Given the description of an element on the screen output the (x, y) to click on. 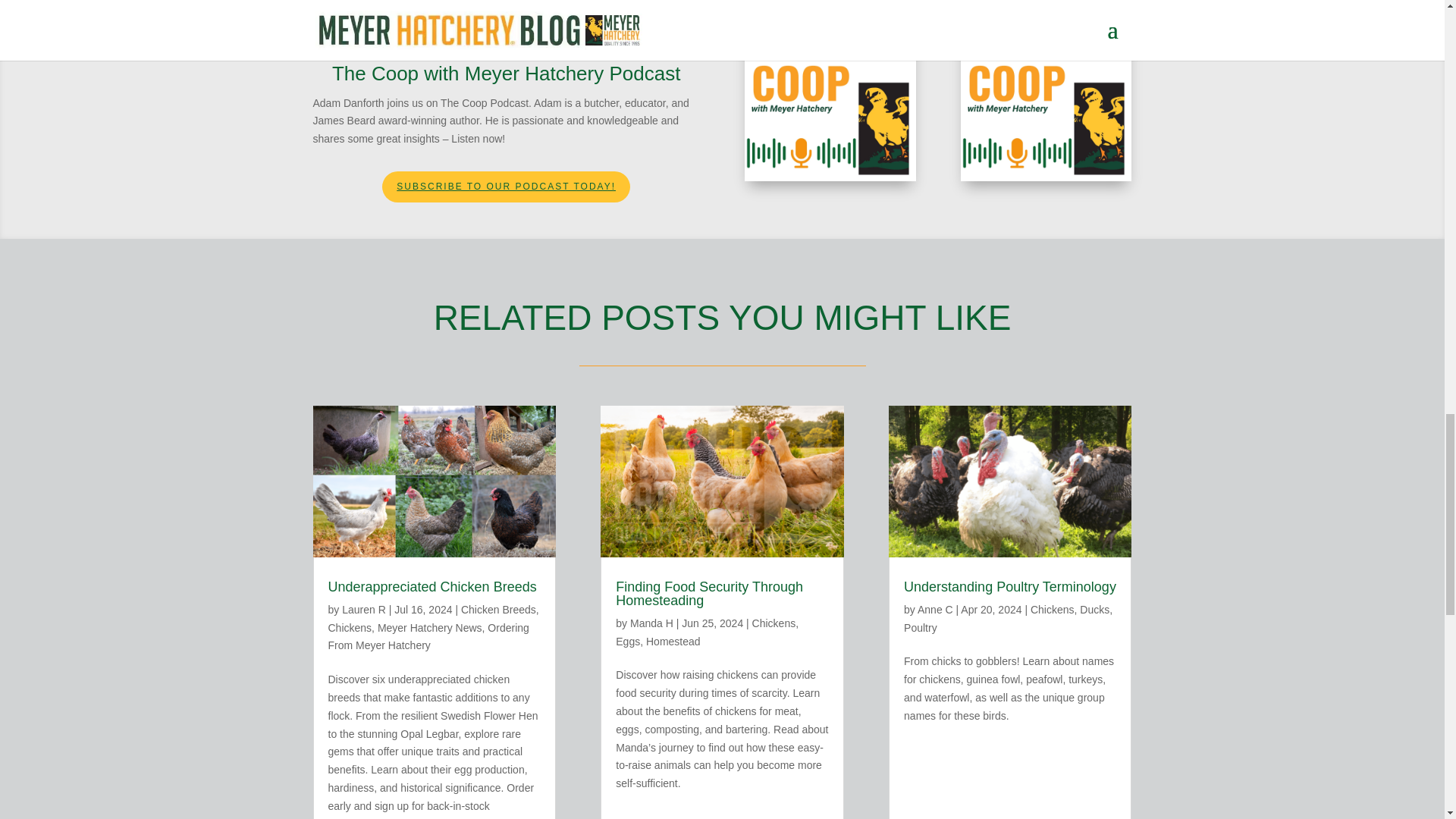
Posts by Lauren R (363, 609)
Posts by Manda H (651, 623)
Posts by Anne C (935, 609)
The Coop  (829, 94)
The Coop (1045, 94)
